Given the description of an element on the screen output the (x, y) to click on. 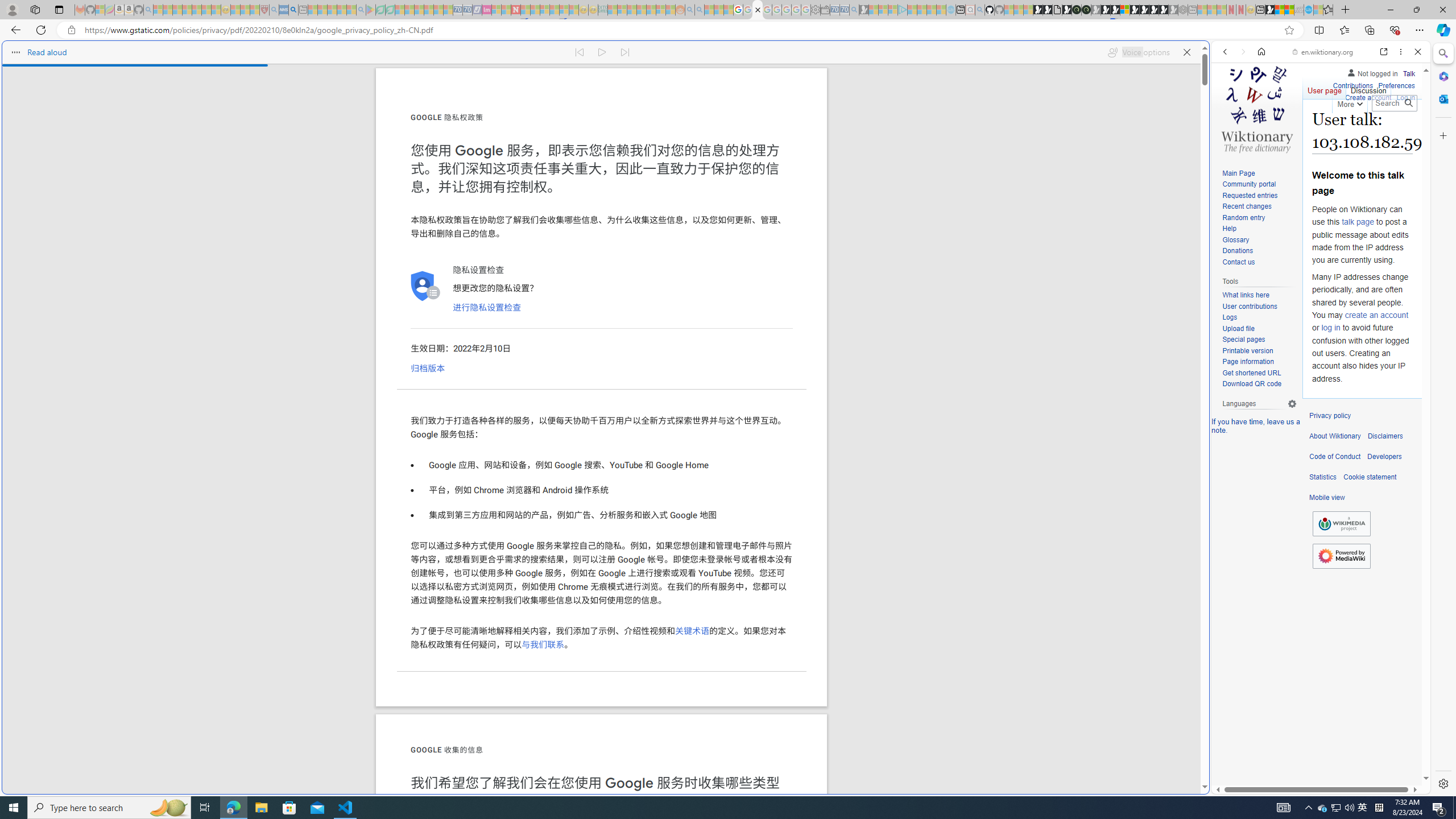
log in (1330, 327)
Talk (1408, 73)
Search or enter web address (922, 108)
Search Filter, VIDEOS (1300, 129)
Services - Maintenance | Sky Blue Bikes - Sky Blue Bikes (1307, 9)
More (1349, 101)
SEARCH TOOLS (1350, 130)
